Given the description of an element on the screen output the (x, y) to click on. 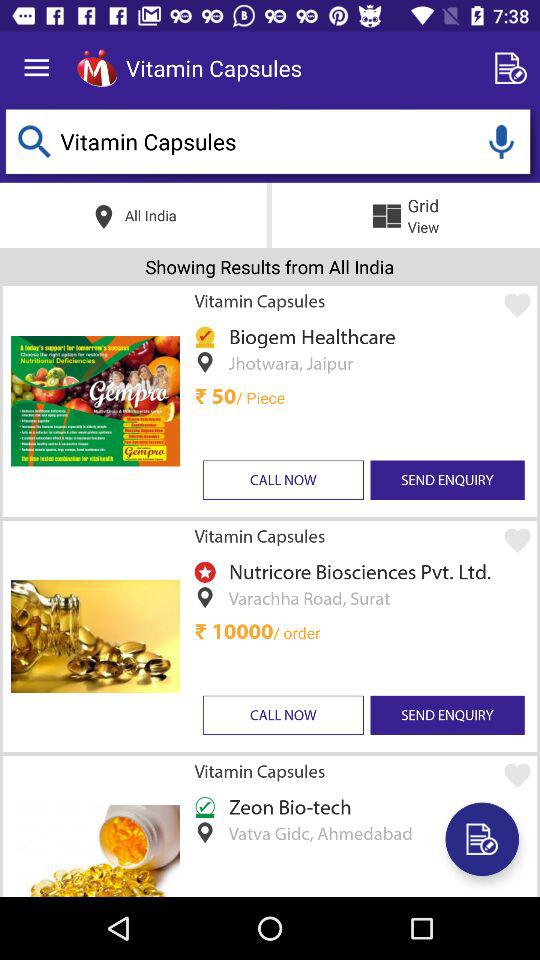
select item to the right of the vitamin capsules (514, 68)
